Given the description of an element on the screen output the (x, y) to click on. 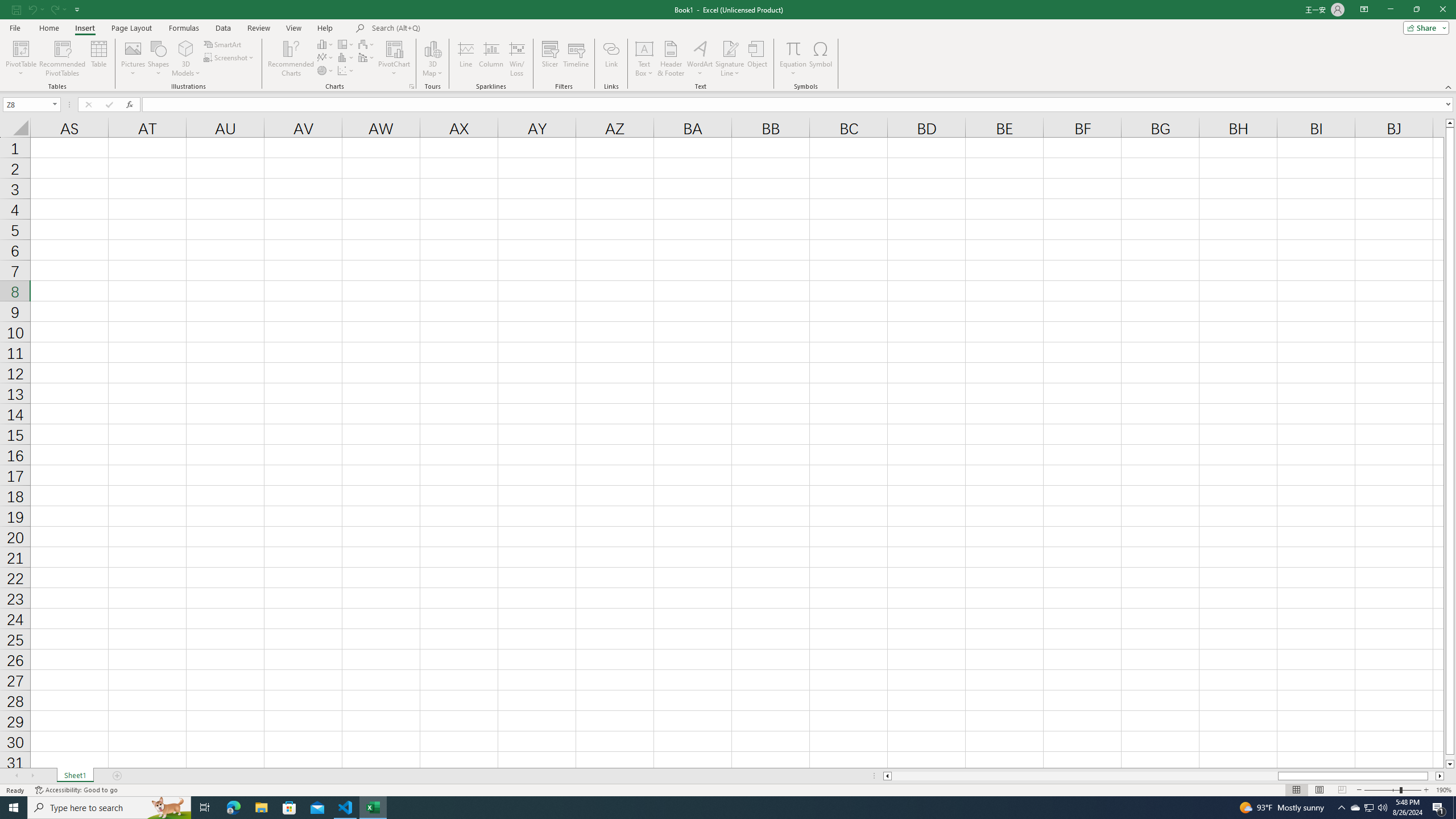
Equation (793, 48)
3D Models (186, 48)
Data (223, 28)
SmartArt... (223, 44)
Page down (1449, 757)
Line down (1449, 764)
Page right (1431, 775)
Table (98, 58)
Recommended PivotTables (62, 58)
Minimize (1390, 9)
Shapes (158, 58)
Slicer... (550, 58)
Symbol... (821, 58)
